Given the description of an element on the screen output the (x, y) to click on. 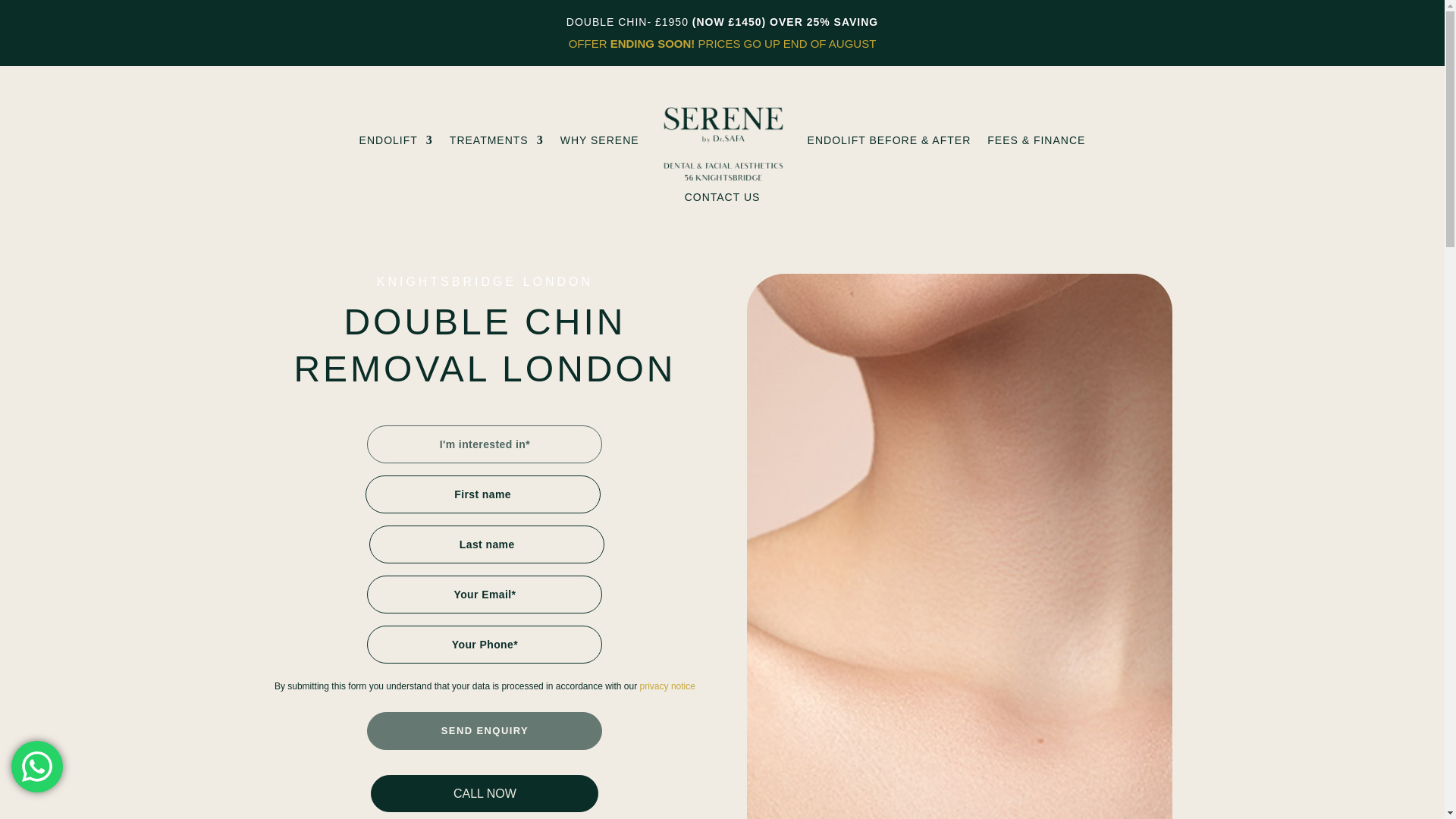
Send Enquiry (484, 730)
WhatsApp us (36, 766)
CALL NOW (484, 793)
Send Enquiry (484, 730)
Last name (486, 544)
First name (482, 494)
ENDOLIFT (395, 140)
privacy notice (667, 685)
TREATMENTS (496, 140)
CONTACT US (722, 196)
